Given the description of an element on the screen output the (x, y) to click on. 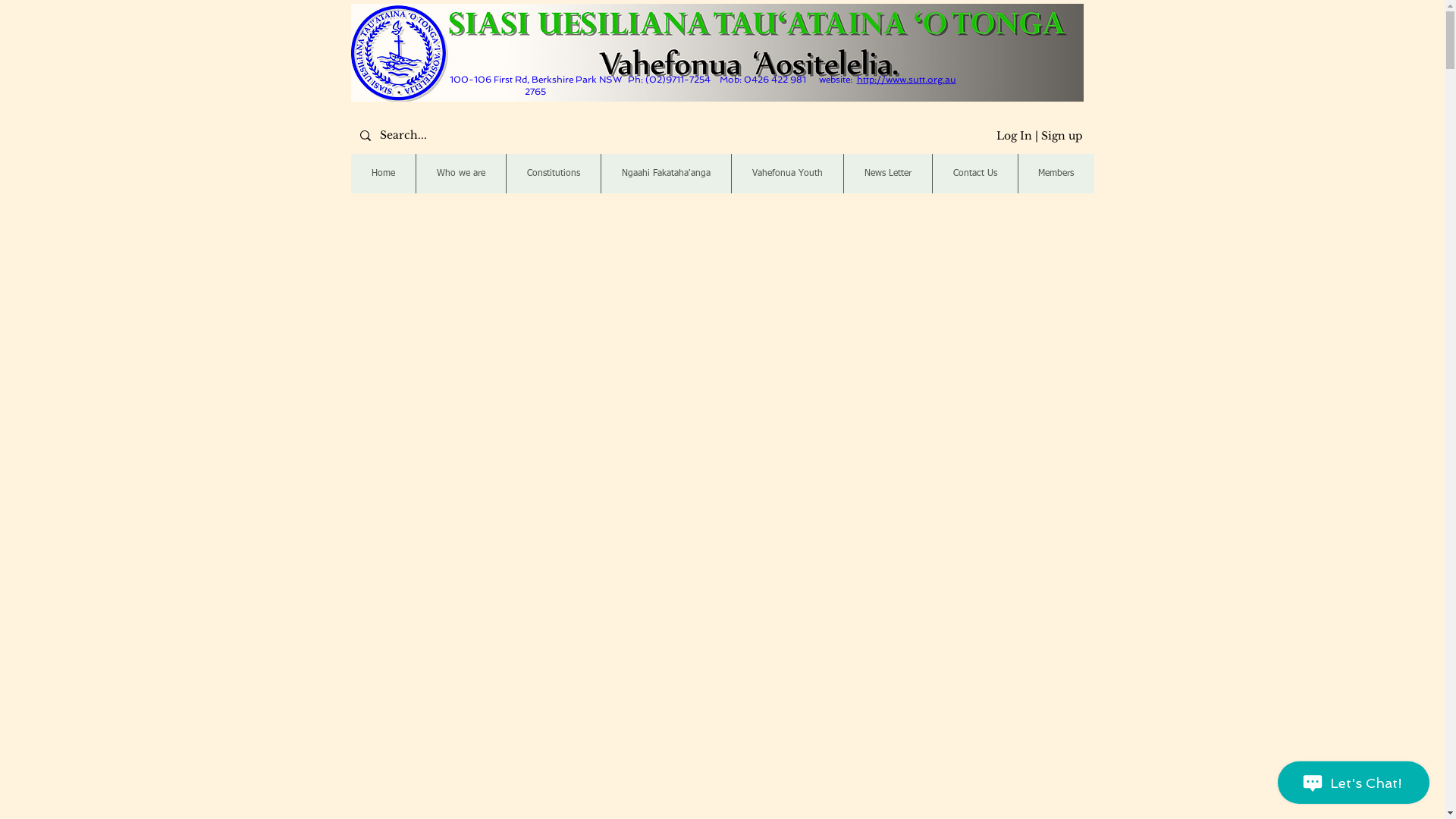
News Letter Element type: text (887, 173)
Contact Us Element type: text (973, 173)
Ngaahi Fakataha'anga Element type: text (665, 173)
http://www.sutt.org.au Element type: text (906, 79)
Log In | Sign up Element type: text (1039, 136)
Home Element type: text (382, 173)
Constitutions Element type: text (552, 173)
Main-Header3.png Element type: hover (716, 52)
Who we are Element type: text (460, 173)
Members Element type: text (1055, 173)
Vahefonua Youth Element type: text (787, 173)
